Given the description of an element on the screen output the (x, y) to click on. 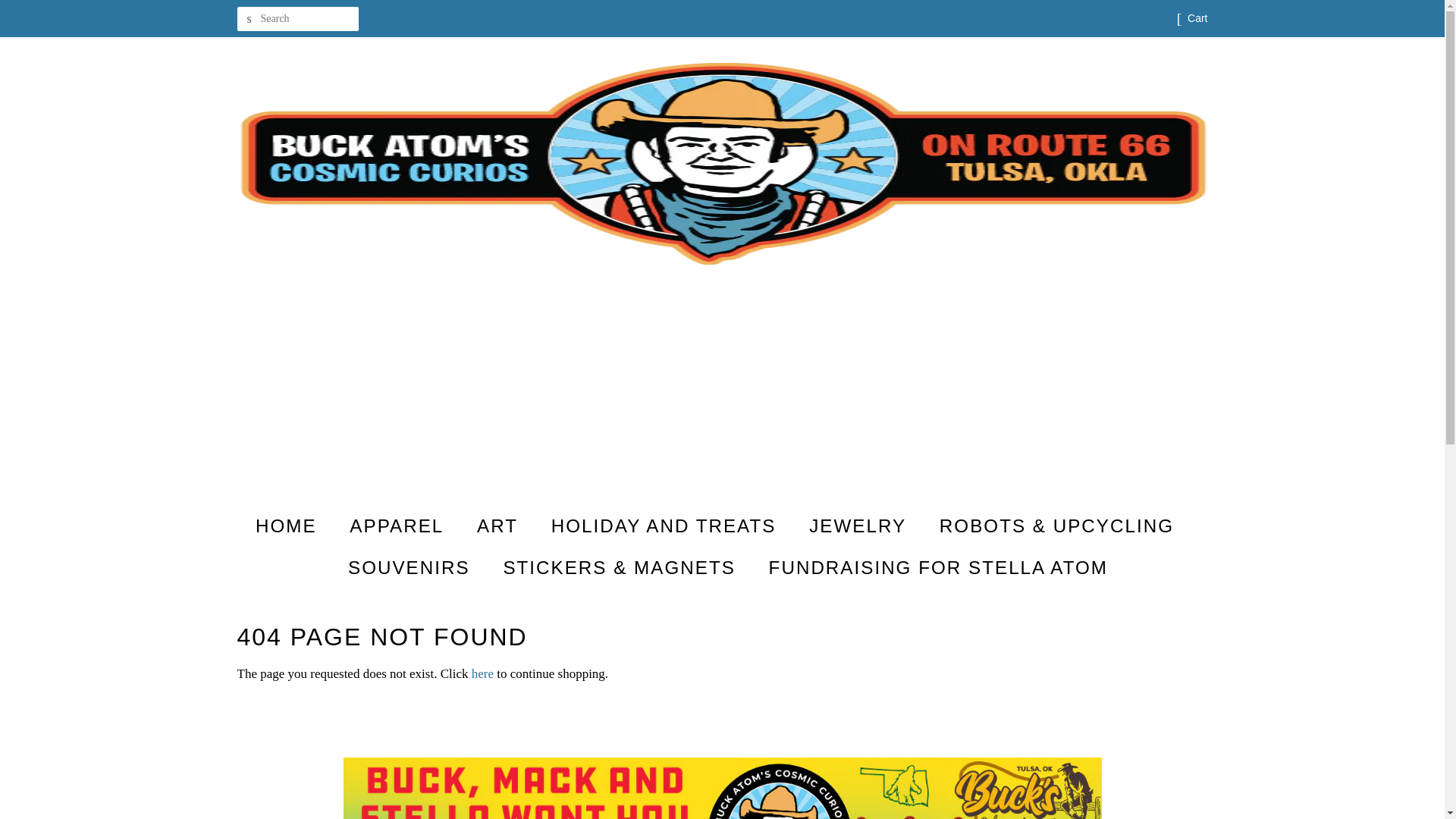
APPAREL (397, 526)
HOLIDAY AND TREATS (666, 526)
Search (247, 18)
HOME (293, 526)
ART (498, 526)
SOUVENIRS (410, 567)
FUNDRAISING FOR STELLA ATOM (932, 567)
Cart (1197, 18)
here (482, 673)
JEWELRY (859, 526)
